Given the description of an element on the screen output the (x, y) to click on. 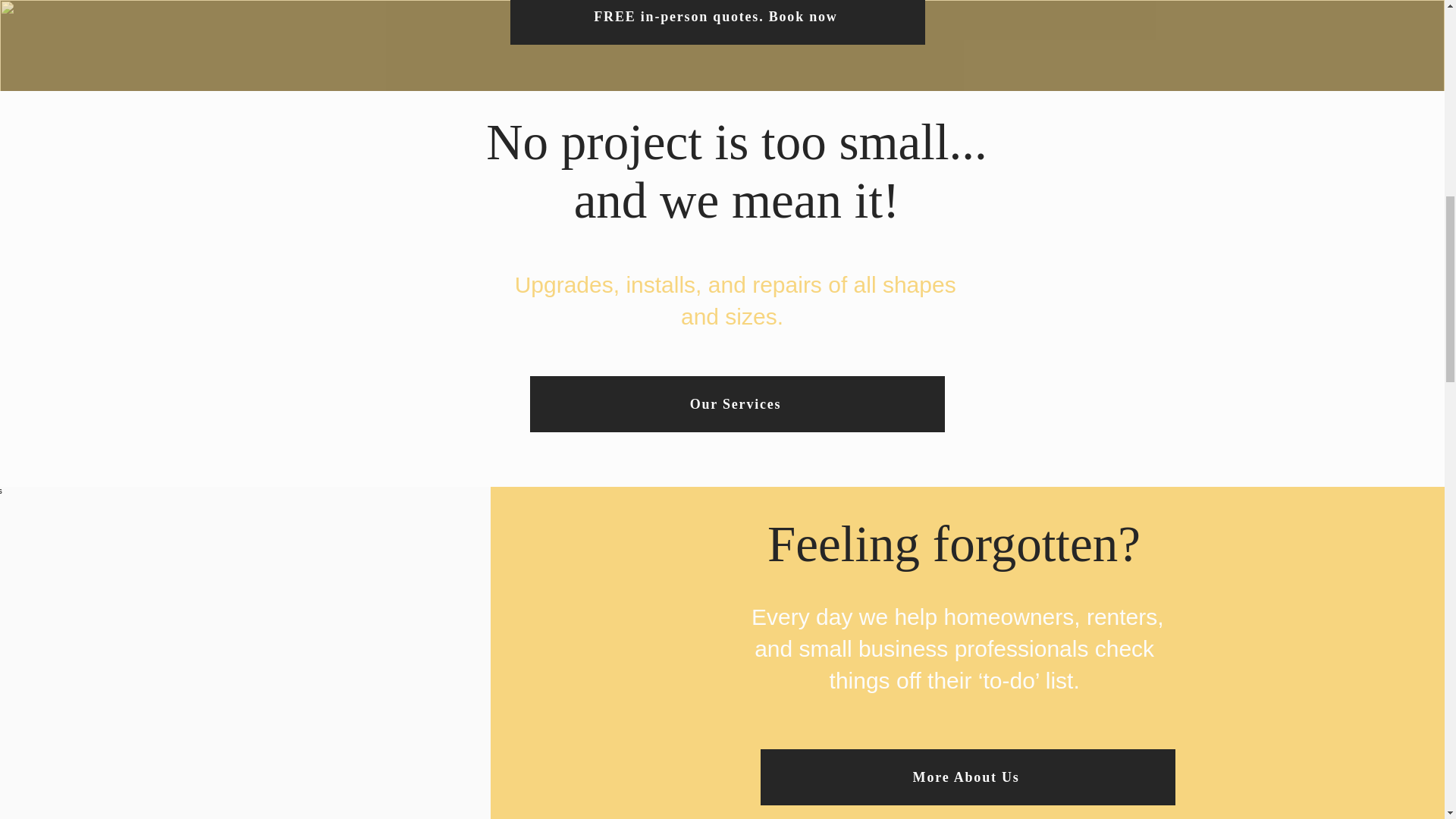
Our Services (736, 403)
FREE in-person quotes. Book now (716, 22)
More About Us (967, 777)
